Given the description of an element on the screen output the (x, y) to click on. 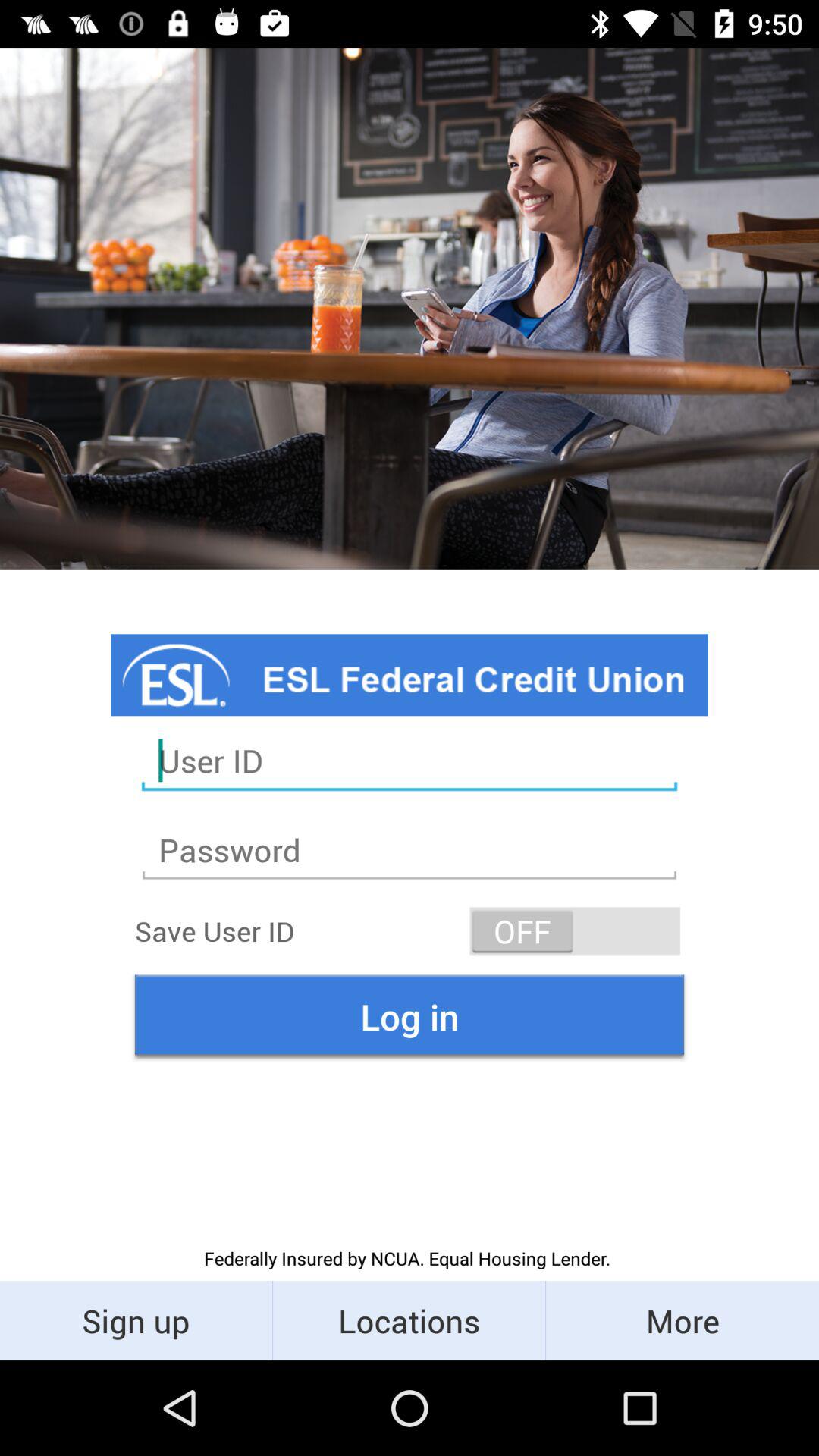
press sign up (136, 1320)
